Given the description of an element on the screen output the (x, y) to click on. 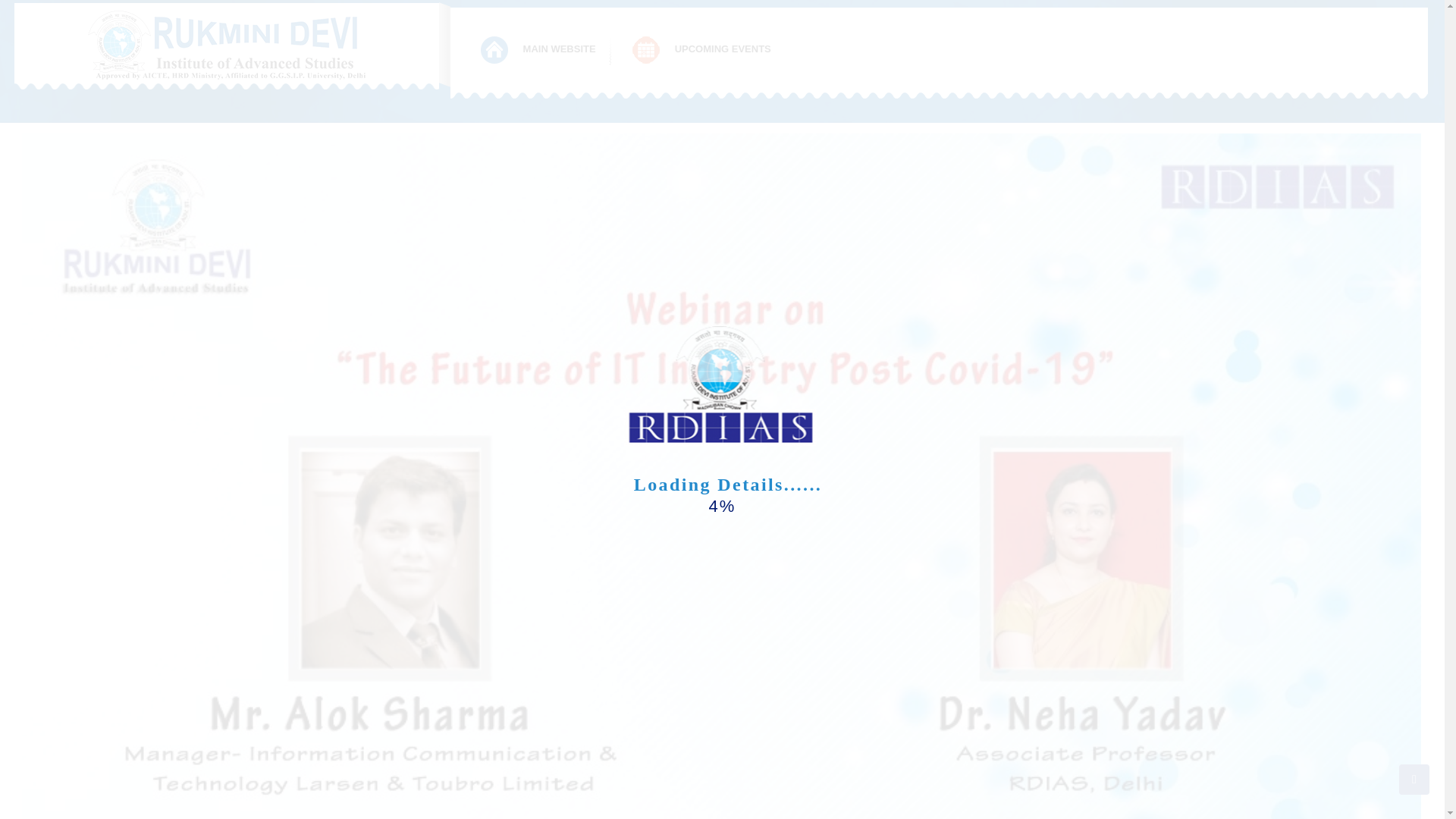
UPCOMING EVENTS (703, 50)
MAIN WEBSITE (539, 50)
